Given the description of an element on the screen output the (x, y) to click on. 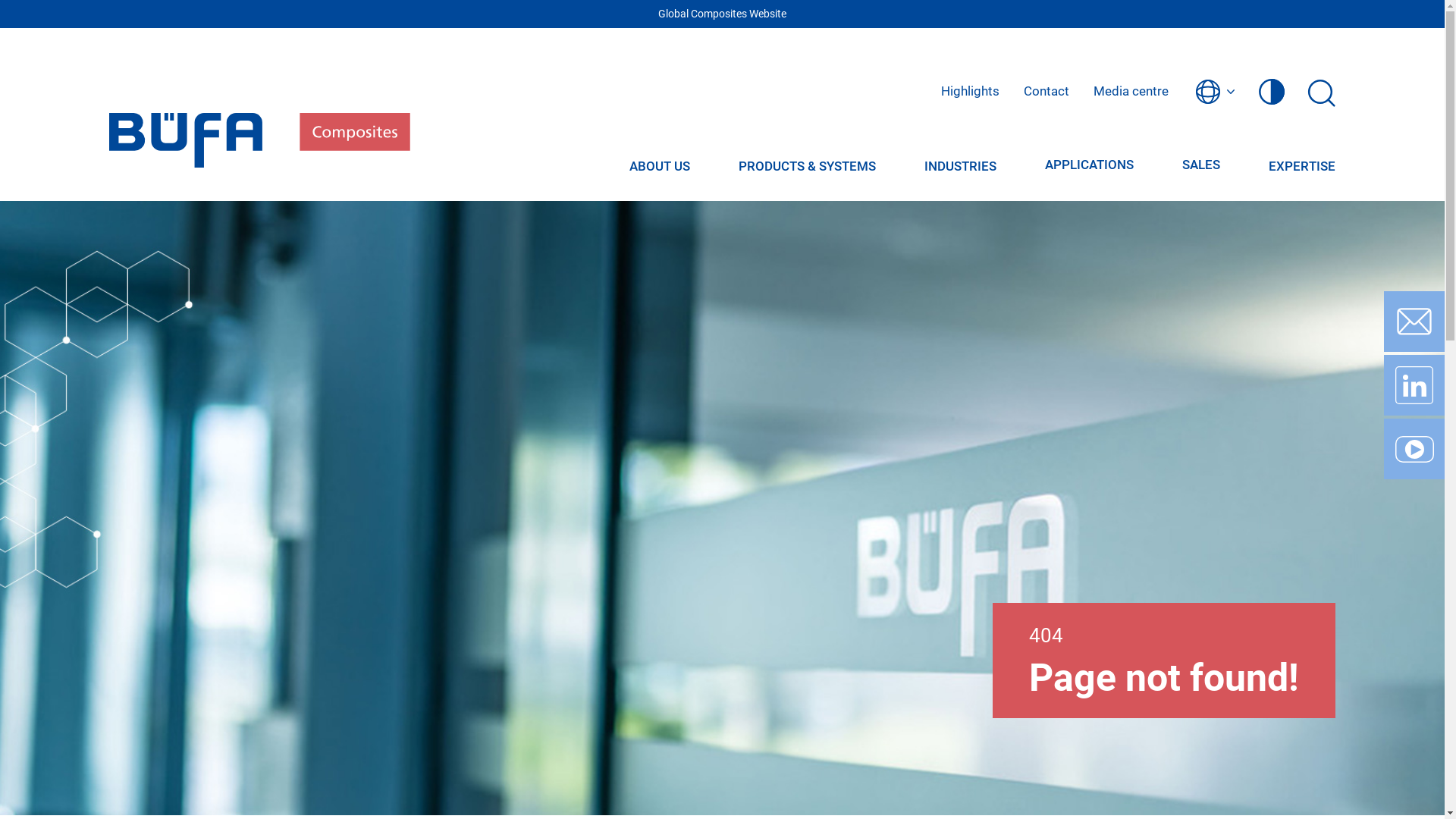
APPLICATIONS Element type: text (1088, 165)
PRODUCTS & SYSTEMS Element type: text (806, 165)
Highlights Element type: text (970, 91)
Contact Element type: text (1046, 91)
INDUSTRIES Element type: text (960, 165)
Media centre Element type: text (1130, 91)
ABOUT US Element type: text (659, 165)
SALES Element type: text (1201, 165)
EXPERTISE Element type: text (1301, 165)
